Given the description of an element on the screen output the (x, y) to click on. 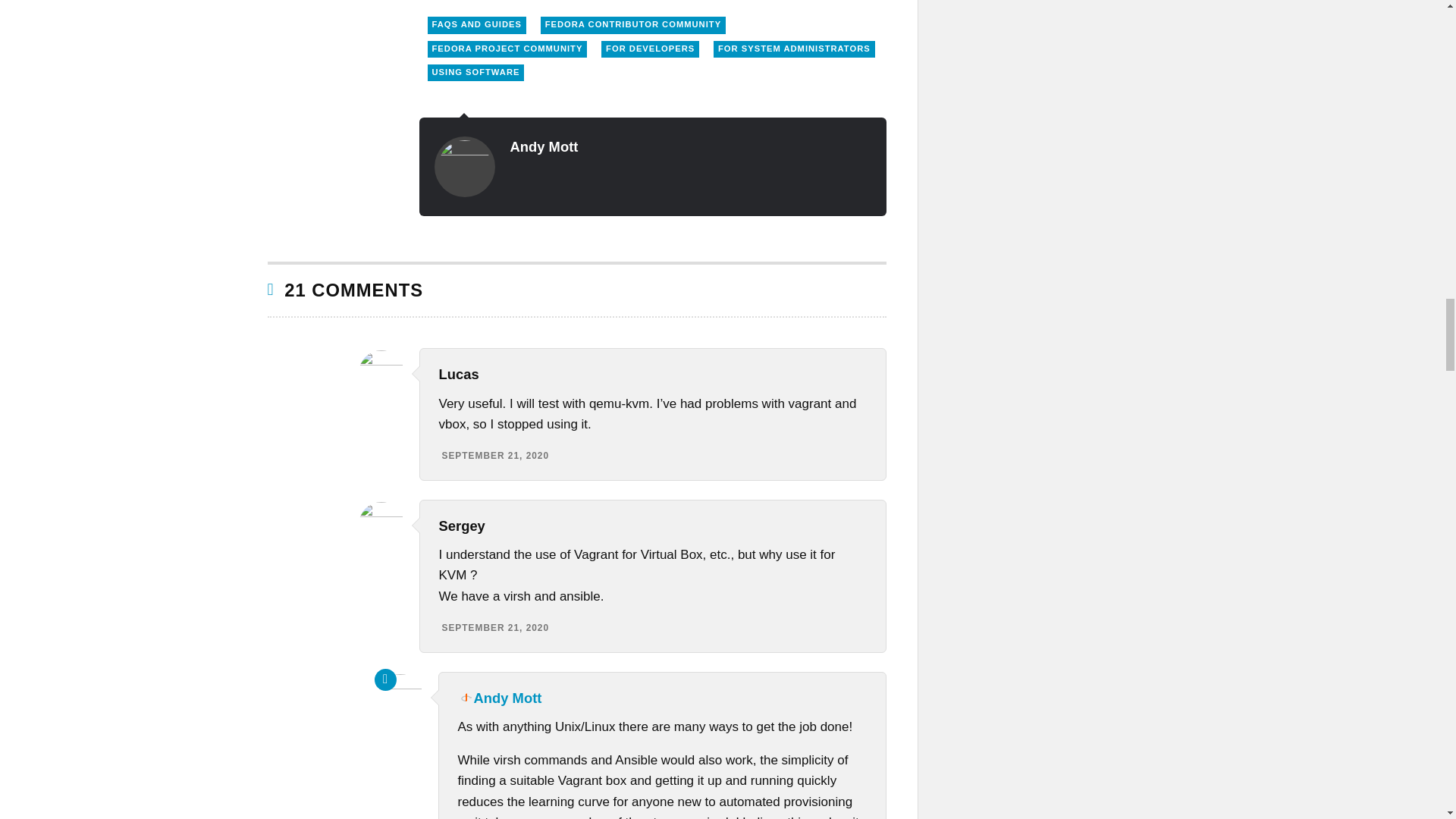
Comment by post author (385, 680)
September 21, 2020 at 19:26 (494, 627)
SEPTEMBER 21, 2020 (494, 627)
FEDORA PROJECT COMMUNITY (508, 48)
FEDORA CONTRIBUTOR COMMUNITY (632, 24)
FAQS AND GUIDES (476, 24)
SEPTEMBER 21, 2020 (494, 455)
September 21, 2020 at 13:56 (494, 455)
Andy Mott (499, 697)
USING SOFTWARE (476, 72)
FOR SYSTEM ADMINISTRATORS (794, 48)
Andy Mott (543, 146)
FOR DEVELOPERS (649, 48)
